Given the description of an element on the screen output the (x, y) to click on. 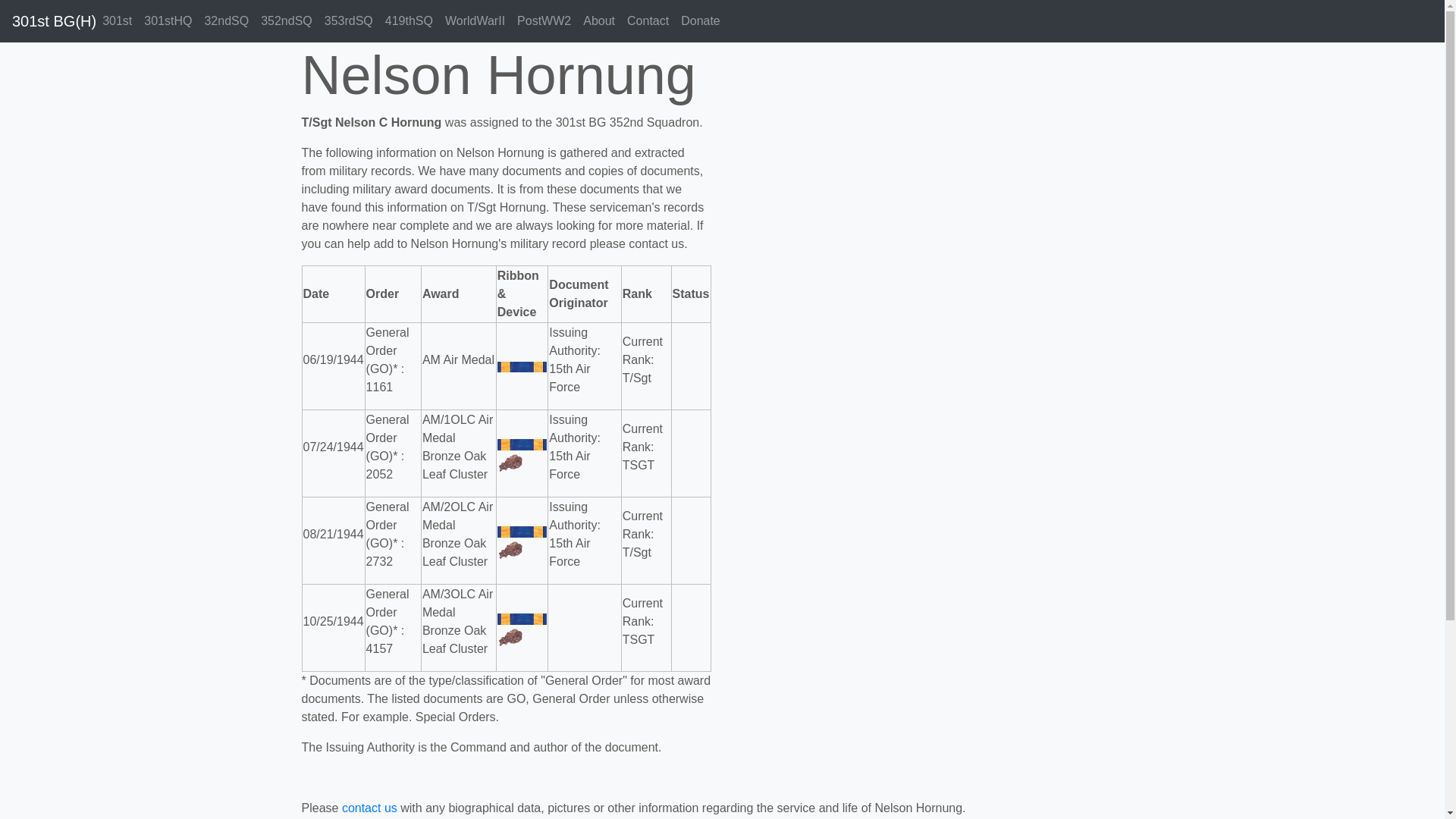
WorldWarII Element type: text (475, 21)
301st Element type: text (117, 21)
About Element type: text (599, 21)
352ndSQ Element type: text (286, 21)
353rdSQ Element type: text (348, 21)
contact us Element type: text (369, 807)
Donate Element type: text (700, 21)
Contact Element type: text (647, 21)
PostWW2 Element type: text (544, 21)
32ndSQ Element type: text (225, 21)
301st BG(H) Element type: text (54, 21)
301stHQ Element type: text (167, 21)
419thSQ Element type: text (409, 21)
